Given the description of an element on the screen output the (x, y) to click on. 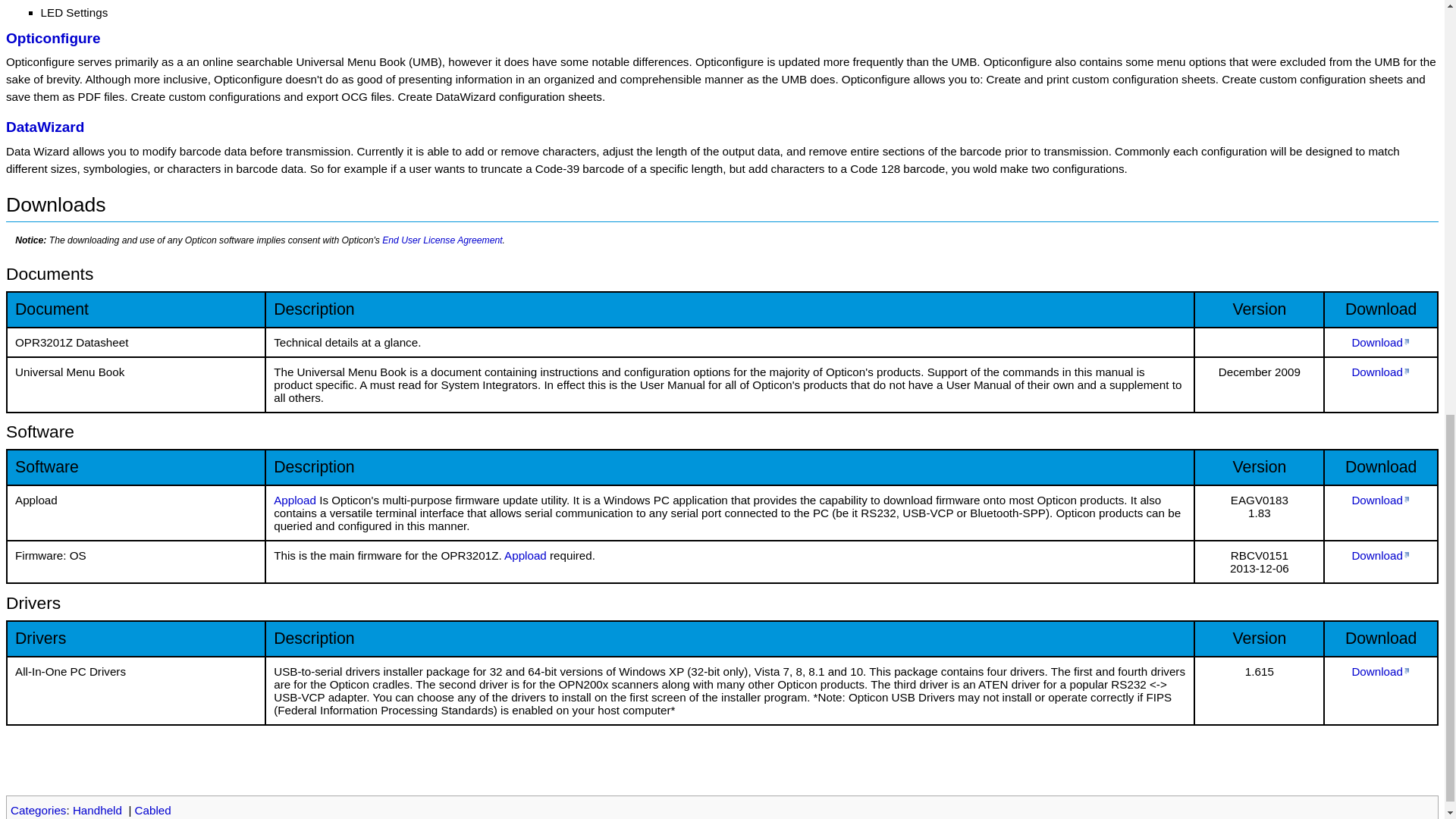
Category:Handheld (97, 809)
Category:Cabled (153, 809)
Download (1380, 341)
Download (1380, 671)
Appload (525, 554)
DataWizard (44, 126)
Opticonfigure (52, 37)
Categories (37, 809)
DataWizard (44, 126)
End User License Agreement (441, 240)
Opticonfigure (52, 37)
Download (1380, 499)
Download (1380, 554)
Download (1380, 371)
Appload (525, 554)
